Given the description of an element on the screen output the (x, y) to click on. 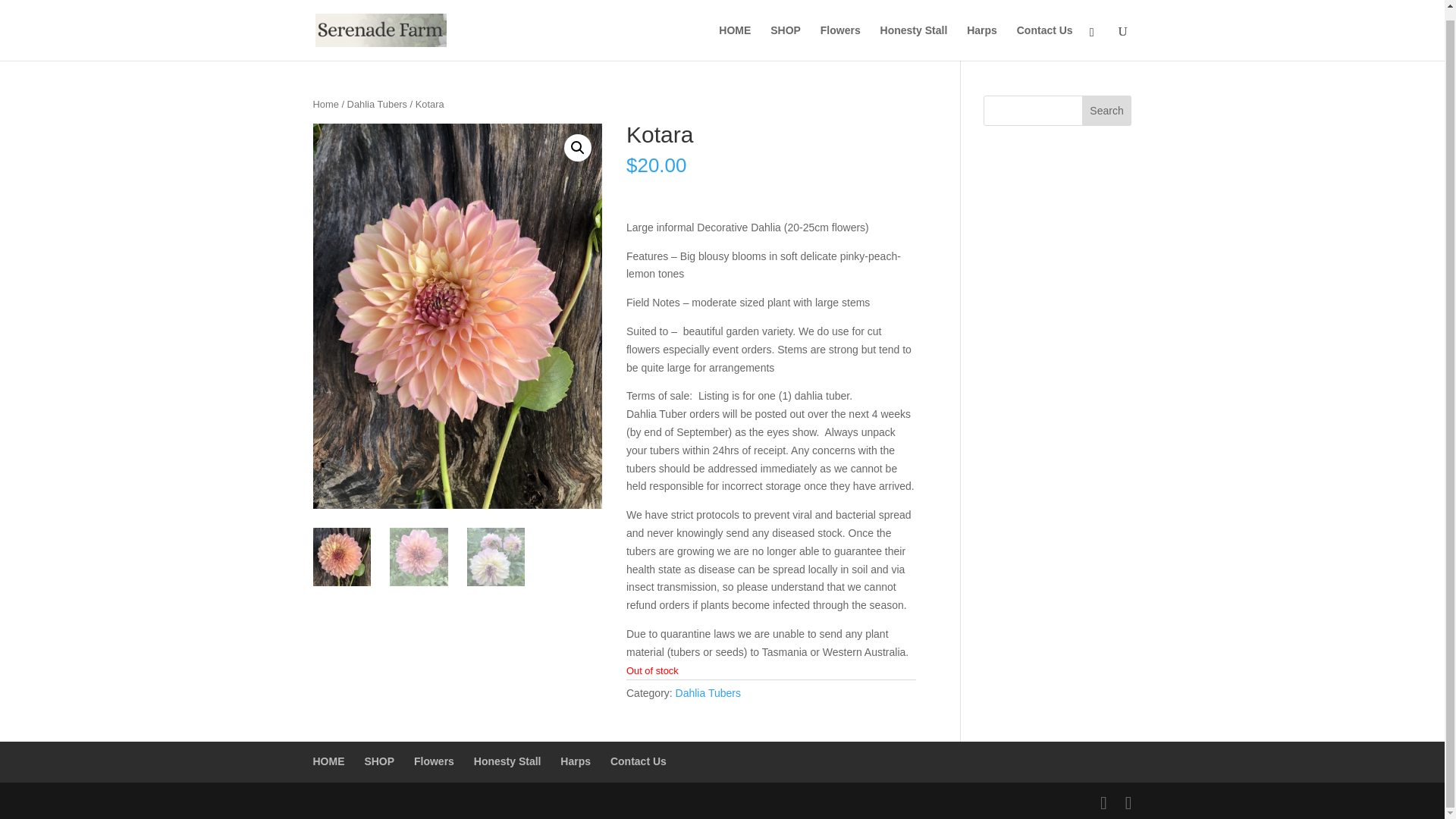
HOME (328, 761)
Flowers (840, 33)
Search (1106, 110)
Harps (575, 761)
Dahlia Tubers (377, 103)
Search (1106, 110)
Dahlia Tubers (708, 693)
Contact Us (1044, 33)
HOME (735, 33)
Honesty Stall (913, 33)
Home (325, 103)
Flowers (433, 761)
Honesty Stall (507, 761)
SHOP (379, 761)
Contact Us (638, 761)
